Given the description of an element on the screen output the (x, y) to click on. 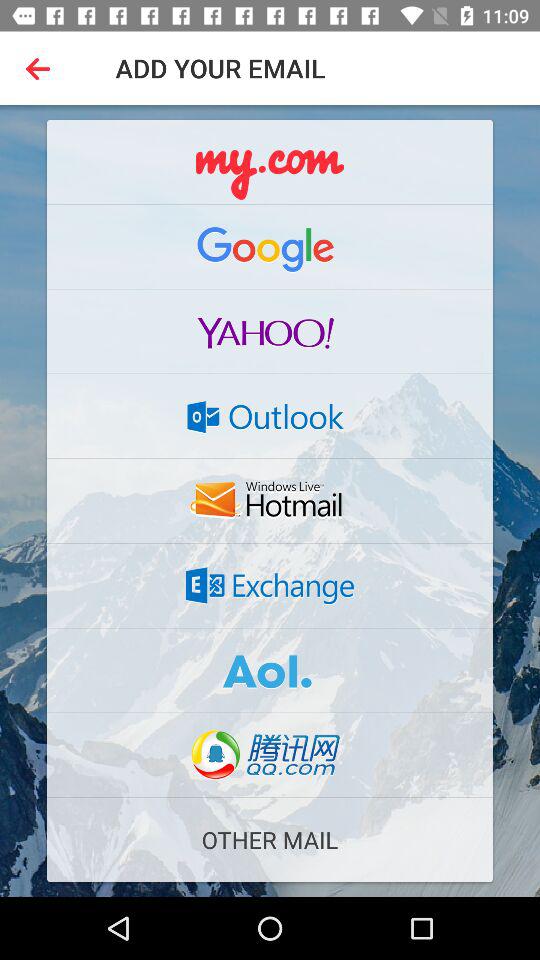
click on mycom above google (269, 162)
select the outlook logo on the web page (269, 415)
click on exchange field which is above aoi (269, 585)
click on the button which is below the aoi (269, 754)
click the logo mycom on the web page (269, 162)
click on the button beside add you email (41, 68)
click on the button which is above the exchange (269, 500)
click exchange (269, 585)
click on aol (269, 670)
select yahoo (269, 331)
click on google (269, 246)
click on other mail (269, 839)
click on outlook below yahoo (269, 415)
click on the second icon (269, 246)
click on the seventh icon (269, 670)
